Given the description of an element on the screen output the (x, y) to click on. 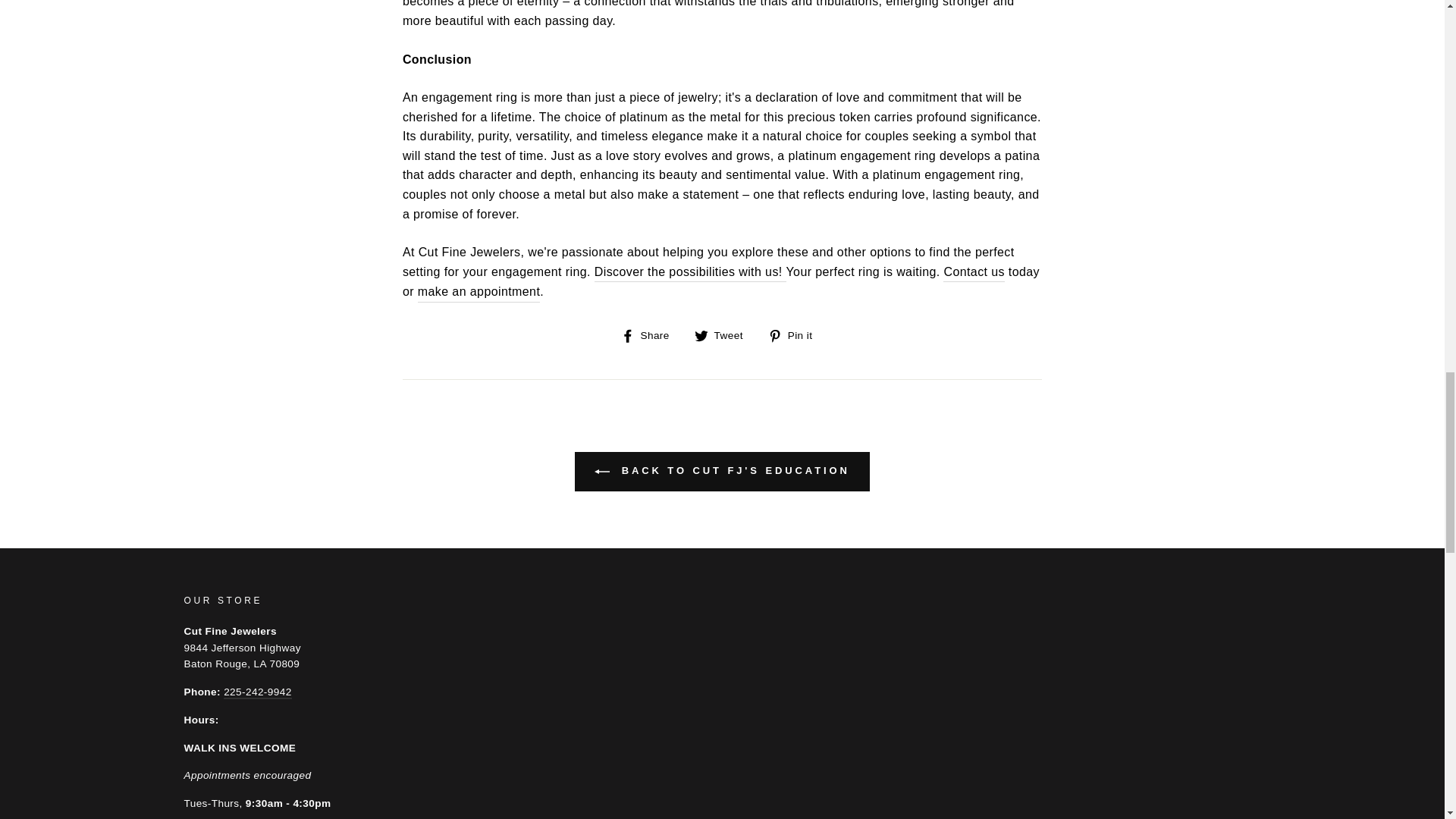
Share on Facebook (651, 334)
Tweet on Twitter (724, 334)
tel:2252429942 (257, 692)
Pin on Pinterest (796, 334)
